Given the description of an element on the screen output the (x, y) to click on. 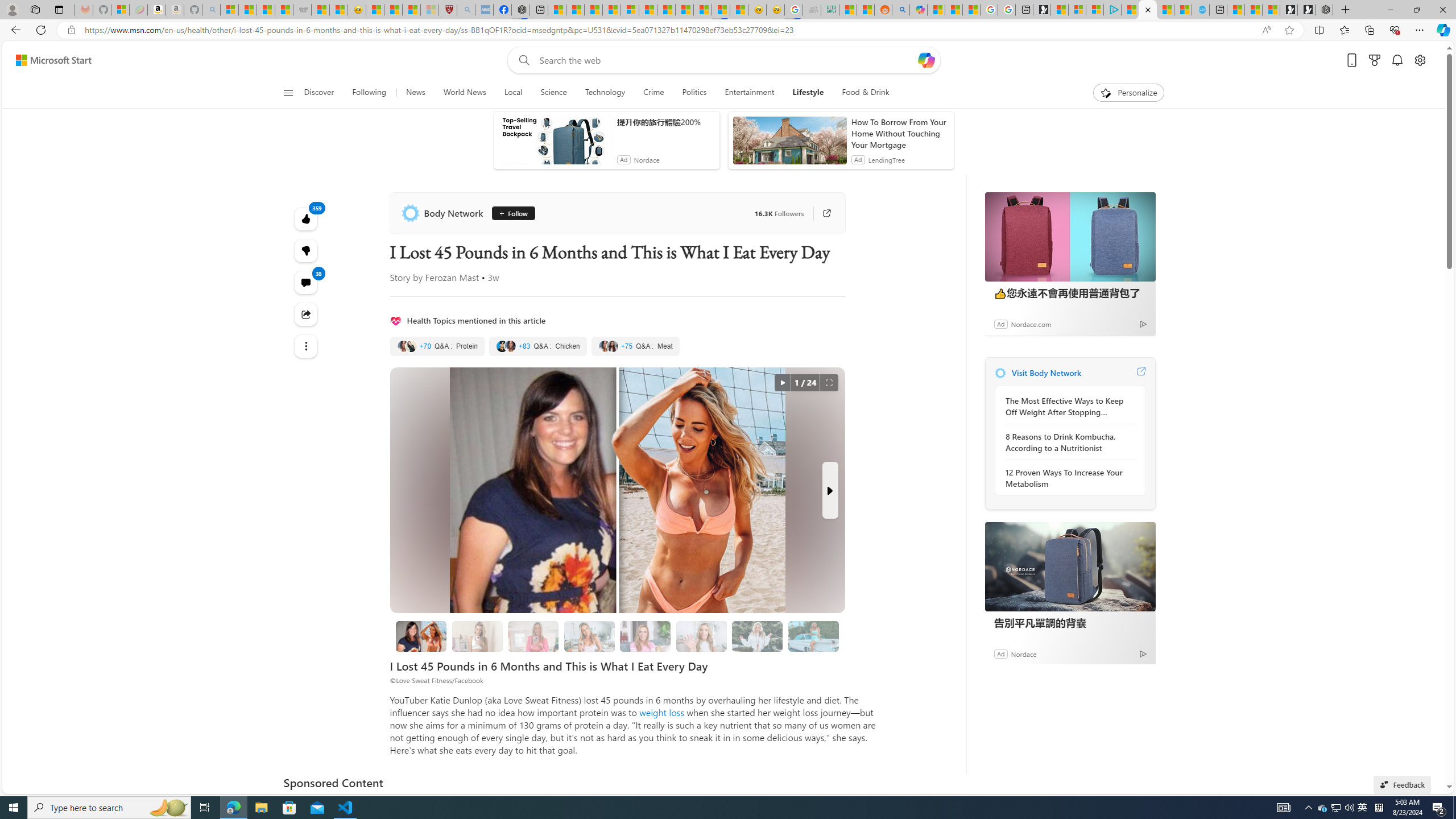
Nordace.com (1030, 323)
8 Reasons to Drink Kombucha, According to a Nutritionist (1066, 441)
